Given the description of an element on the screen output the (x, y) to click on. 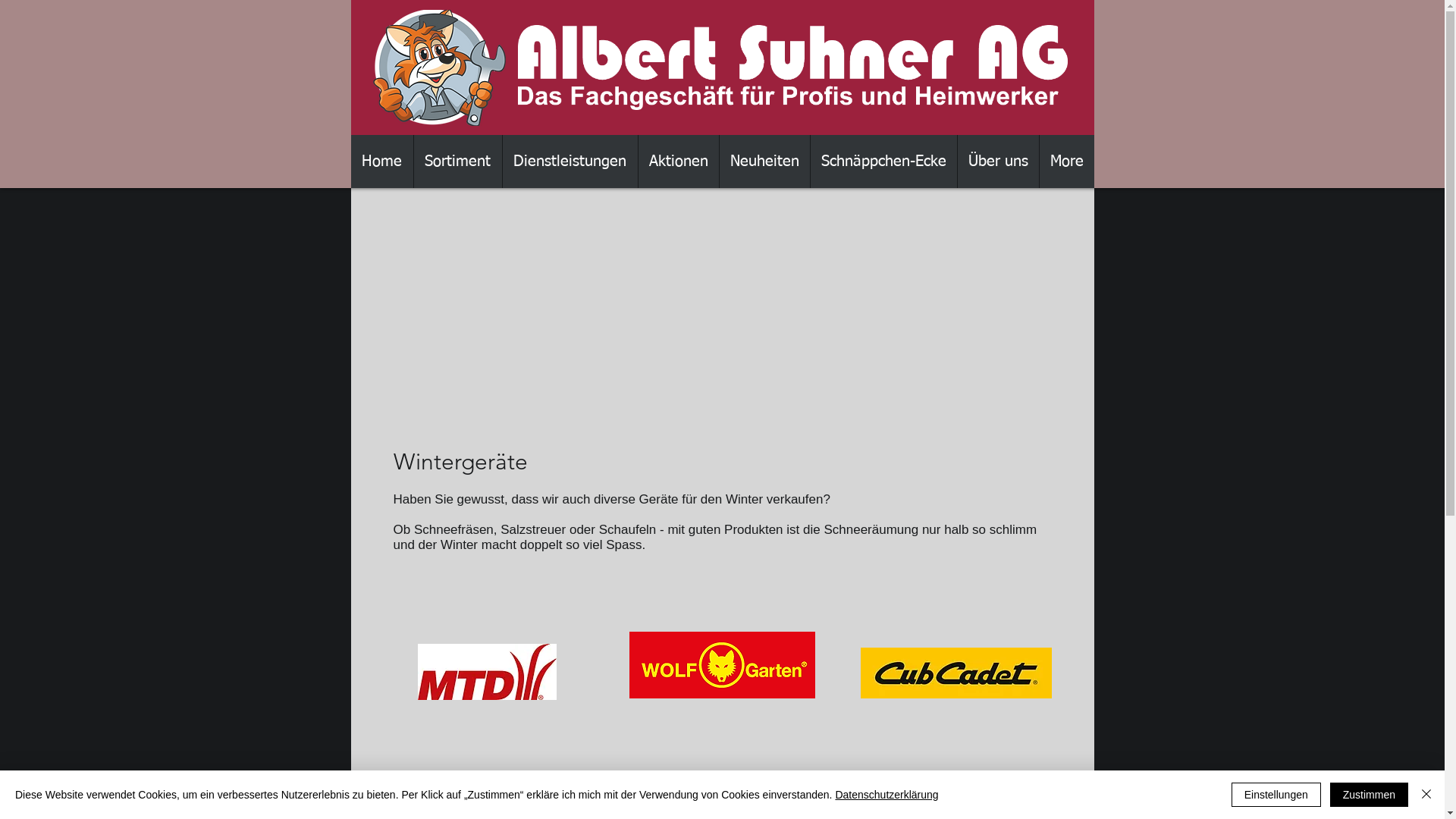
Home Element type: text (381, 161)
Neuheiten Element type: text (763, 161)
Aktionen Element type: text (677, 161)
